Given the description of an element on the screen output the (x, y) to click on. 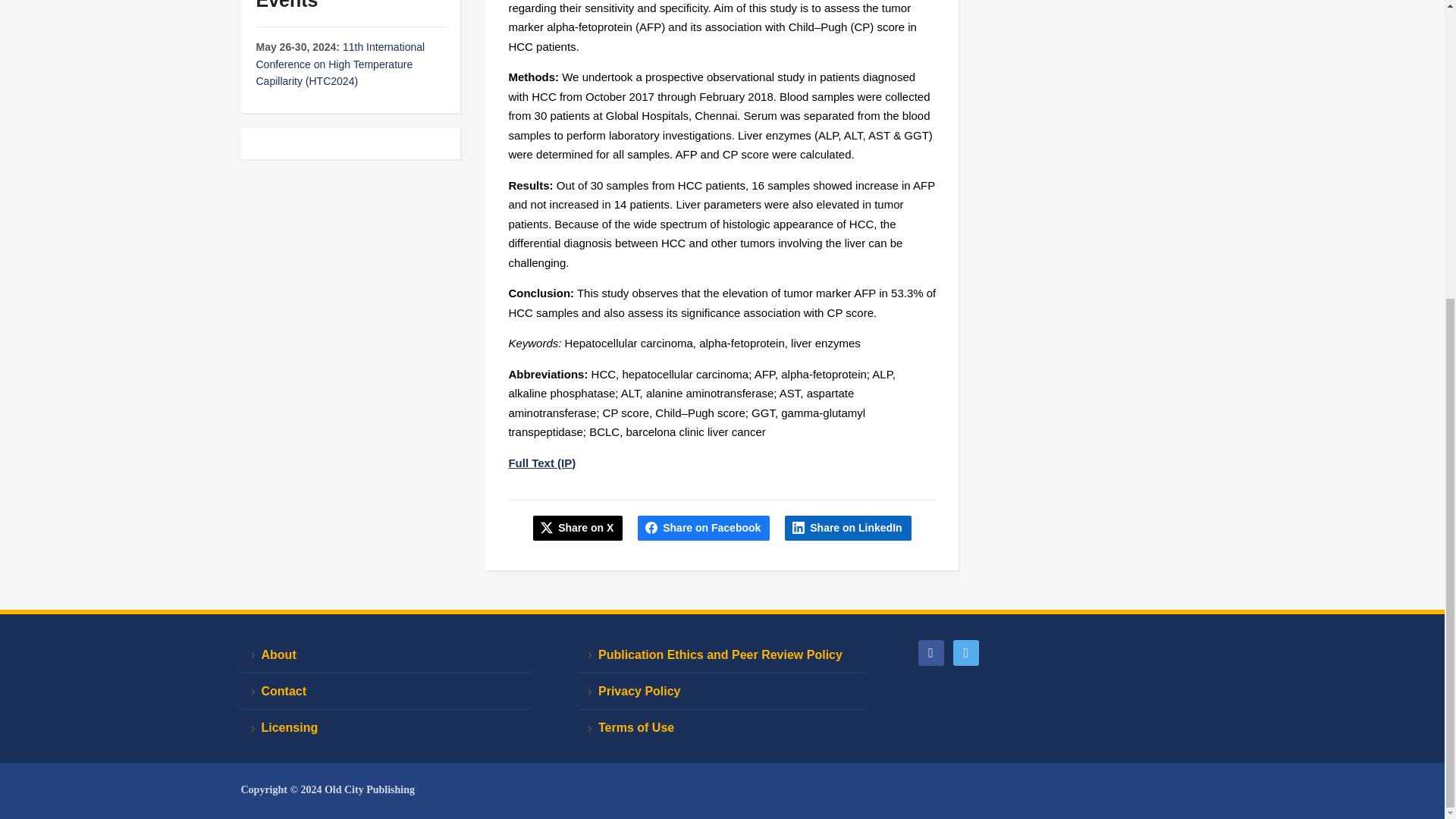
Licensing (385, 727)
About (385, 655)
Terms of Use (722, 727)
twitter (965, 651)
Friend me on Facebook (930, 651)
Share on LinkedIn (847, 527)
Share this on X (577, 527)
Share on X (577, 527)
Contact (385, 691)
Privacy Policy (722, 691)
